Given the description of an element on the screen output the (x, y) to click on. 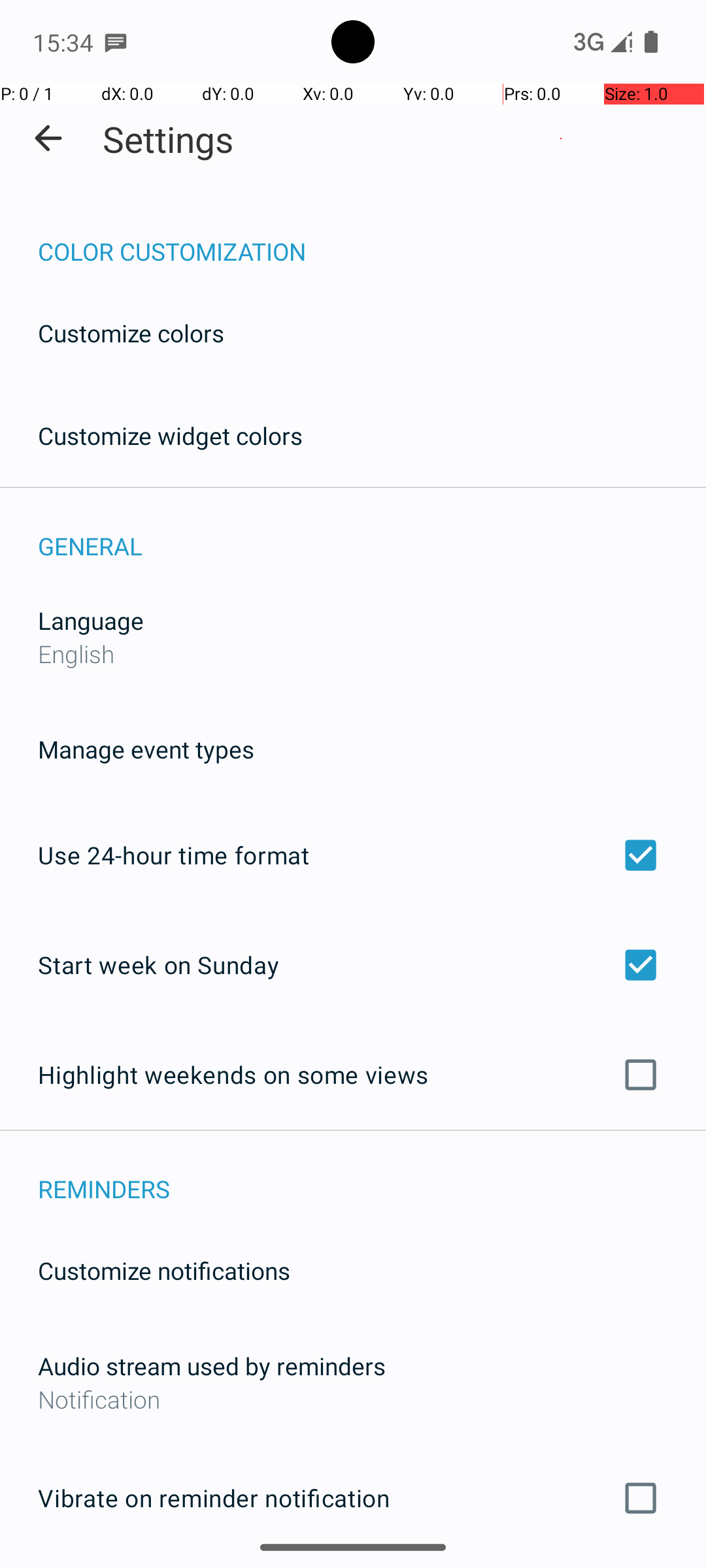
COLOR CUSTOMIZATION Element type: android.widget.TextView (371, 237)
GENERAL Element type: android.widget.TextView (371, 532)
REMINDERS Element type: android.widget.TextView (371, 1174)
Customize colors Element type: android.widget.TextView (130, 332)
Customize widget colors Element type: android.widget.TextView (170, 435)
English Element type: android.widget.TextView (75, 653)
Manage event types Element type: android.widget.TextView (145, 748)
Use 24-hour time format Element type: android.widget.CheckBox (352, 855)
Start week on Sunday Element type: android.widget.CheckBox (352, 964)
Highlight weekends on some views Element type: android.widget.CheckBox (352, 1074)
Customize notifications Element type: android.widget.TextView (163, 1270)
Audio stream used by reminders Element type: android.widget.TextView (211, 1365)
Notification Element type: android.widget.TextView (352, 1398)
Vibrate on reminder notification Element type: android.widget.CheckBox (352, 1497)
Loop reminders until dismissed Element type: android.widget.CheckBox (352, 1567)
